Given the description of an element on the screen output the (x, y) to click on. 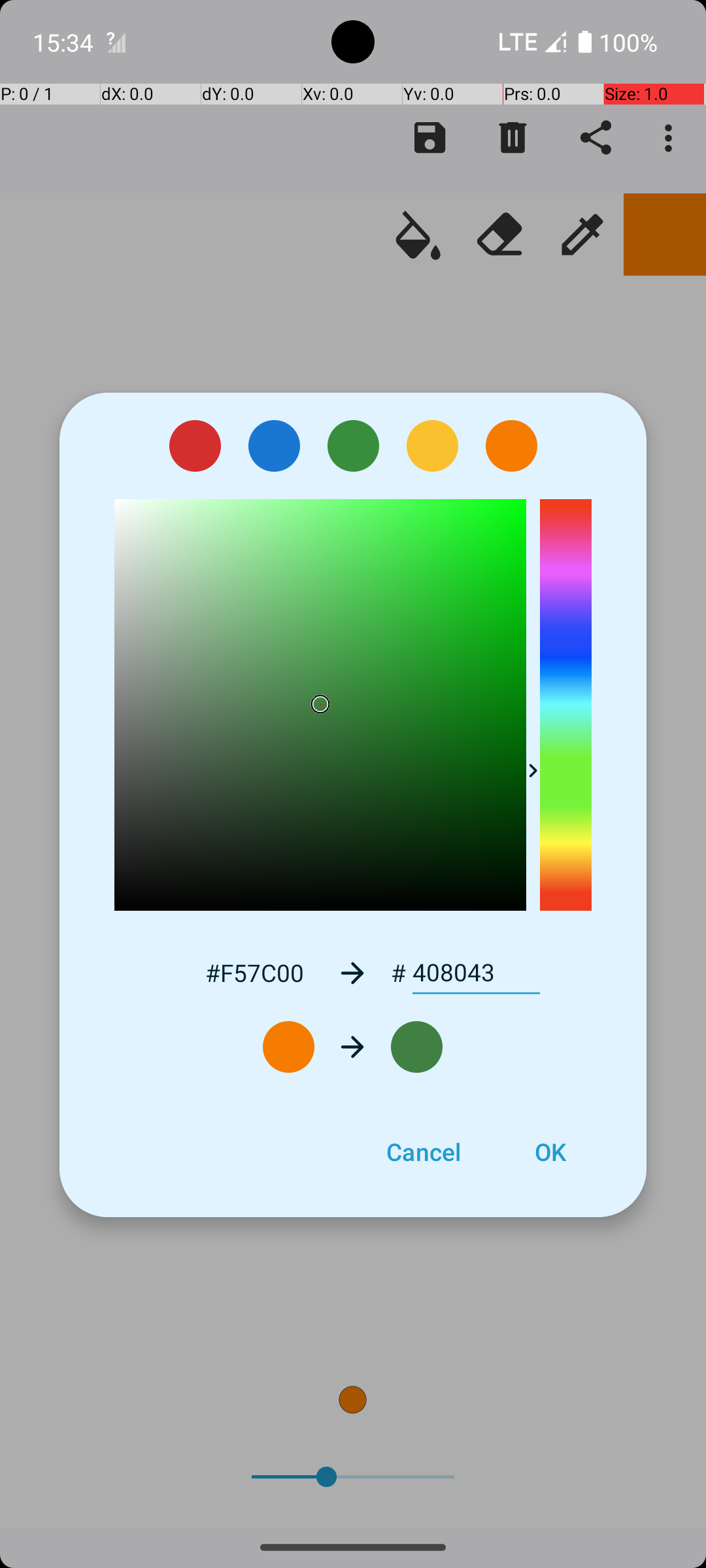
#F57C00 Element type: android.widget.TextView (254, 972)
408043 Element type: android.widget.EditText (475, 972)
